Given the description of an element on the screen output the (x, y) to click on. 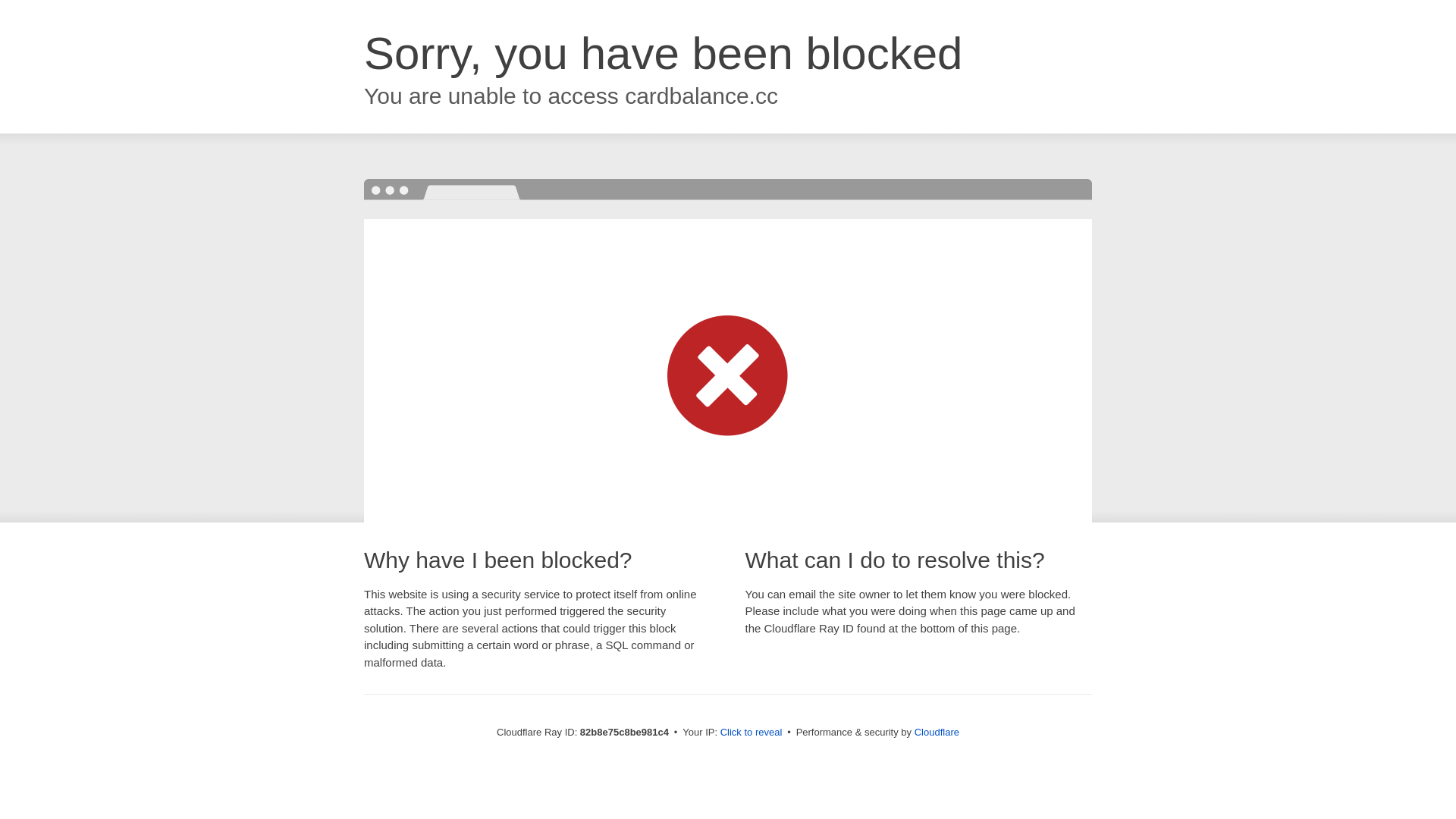
Cloudflare Element type: text (936, 731)
Click to reveal Element type: text (751, 732)
